Given the description of an element on the screen output the (x, y) to click on. 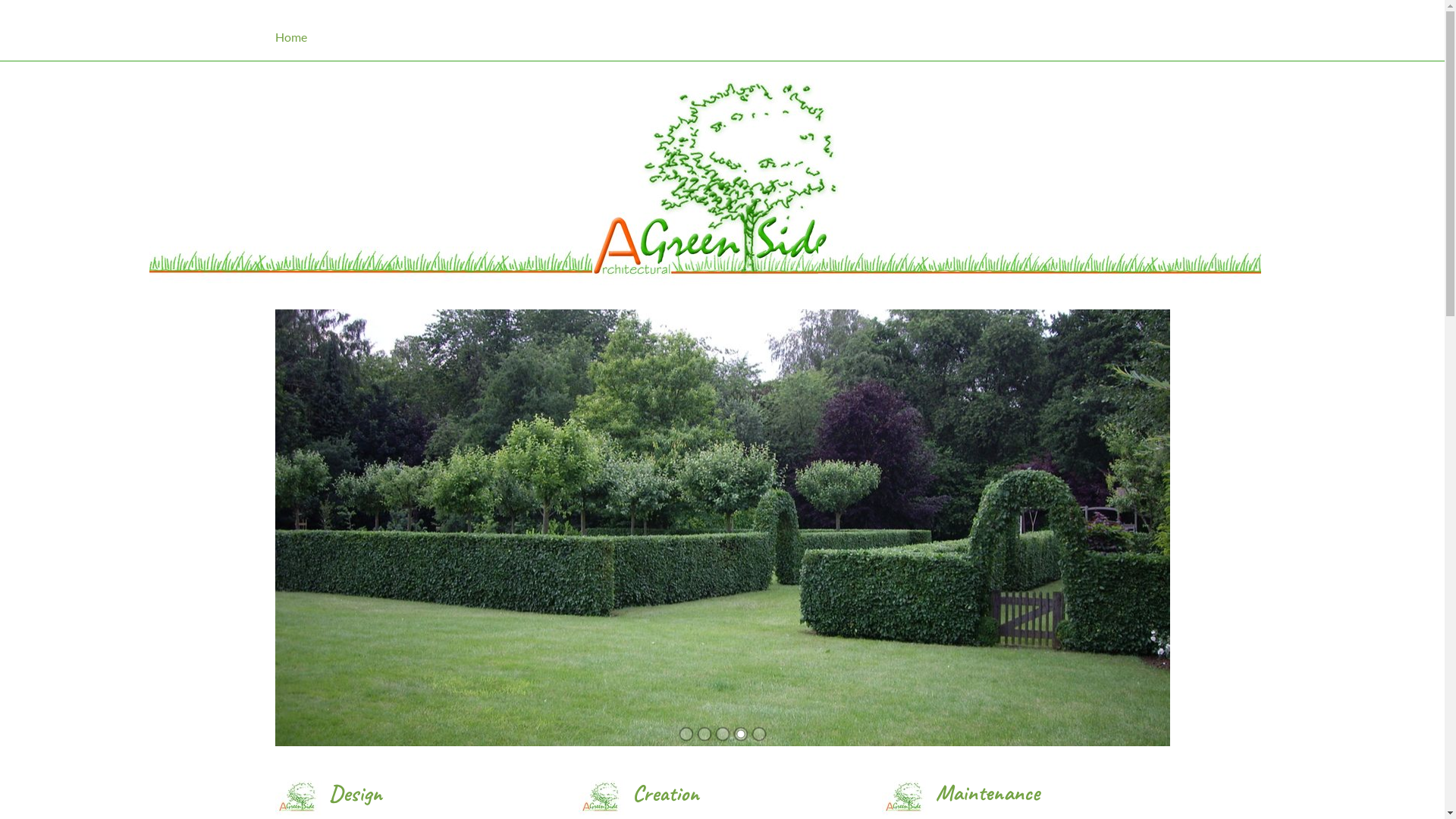
Home Element type: text (305, 40)
Creation Element type: text (665, 792)
Maintenance Element type: text (987, 792)
Home Element type: text (721, 30)
Design Element type: text (355, 792)
